Given the description of an element on the screen output the (x, y) to click on. 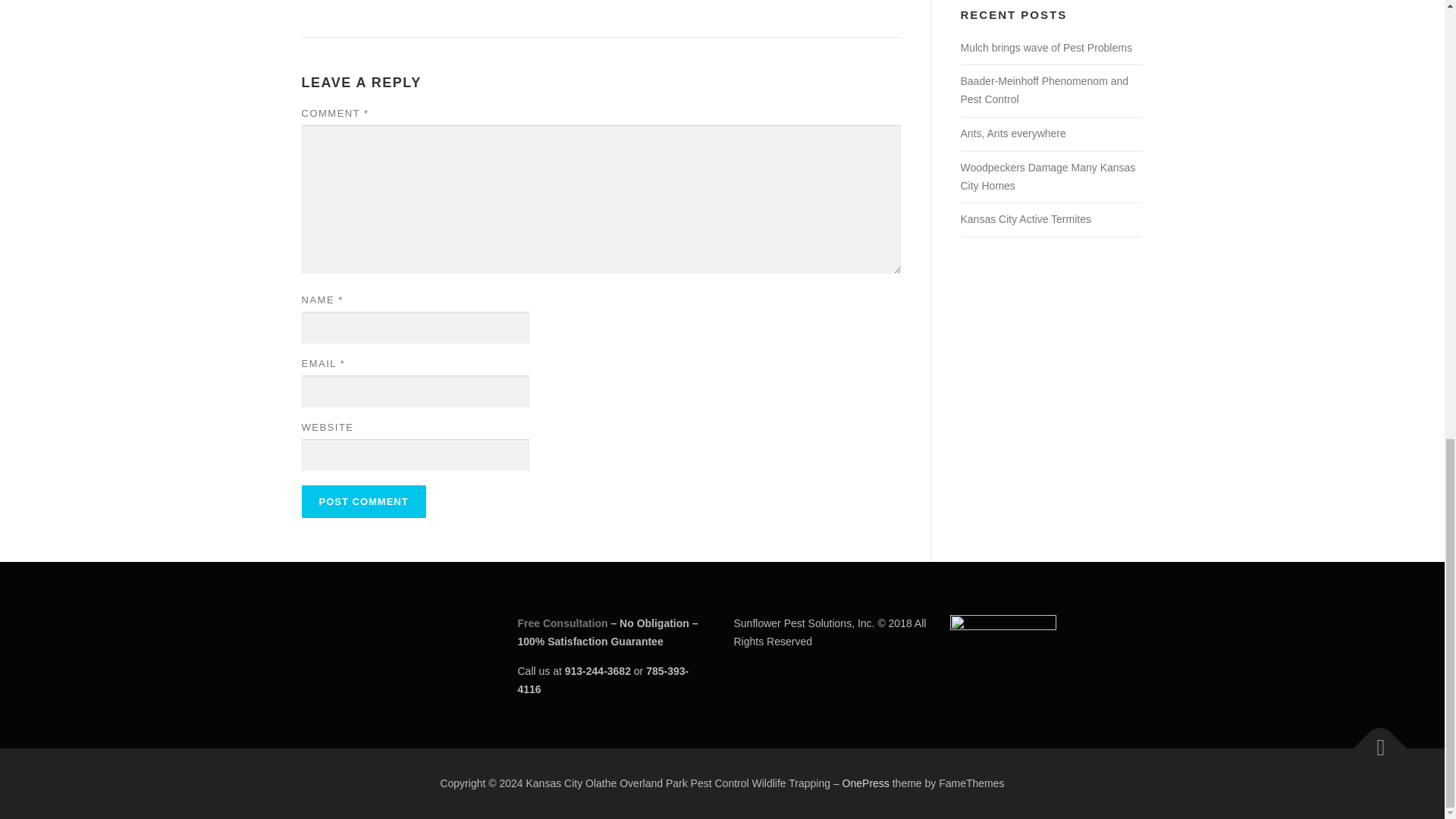
Back To Top (1372, 740)
Post Comment (363, 501)
Post Comment (363, 501)
